Given the description of an element on the screen output the (x, y) to click on. 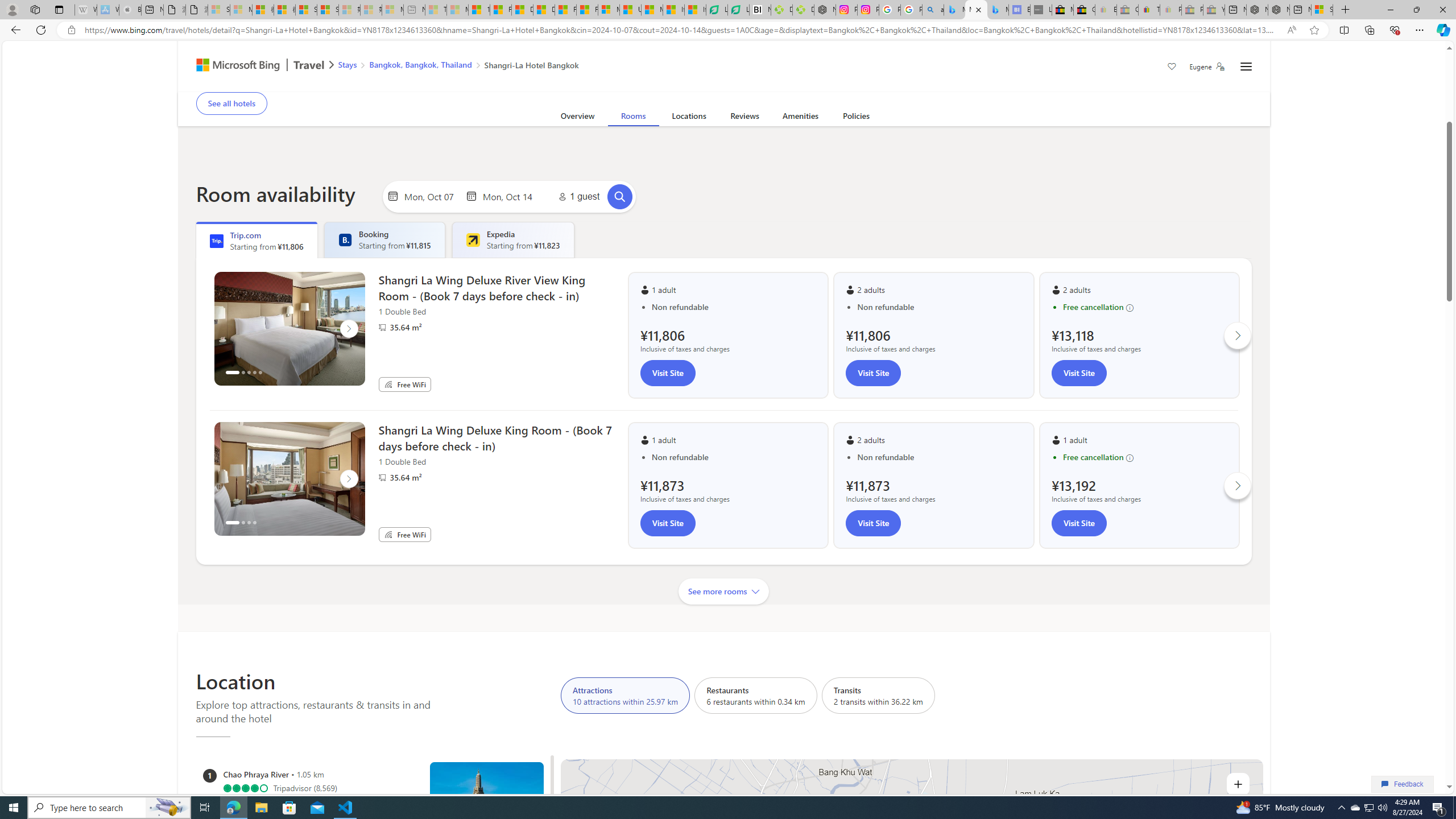
Free cancellation (1144, 457)
Nordace - Nordace Edin Collection (824, 9)
Zoom in (1237, 784)
